Given the description of an element on the screen output the (x, y) to click on. 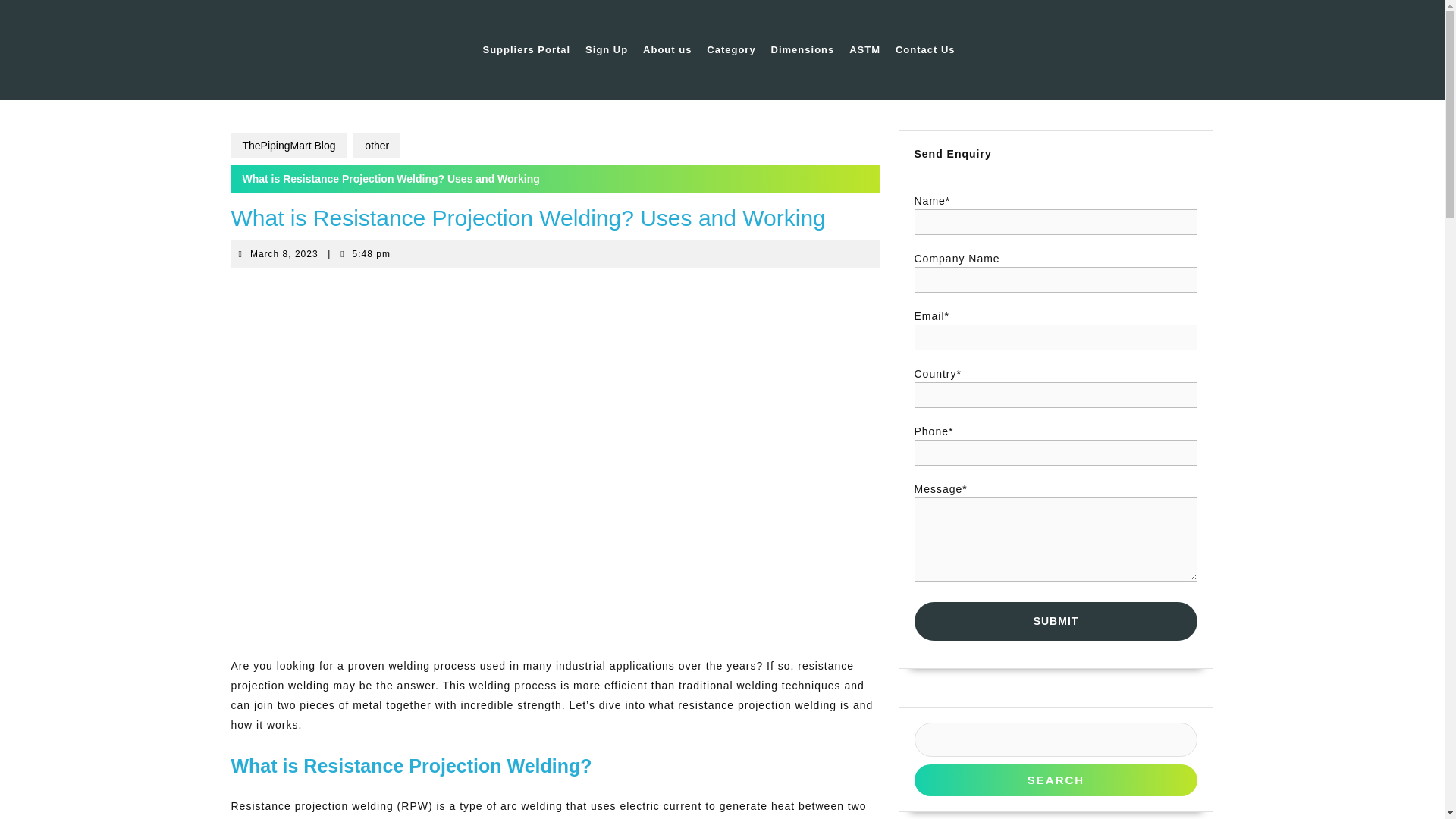
other (376, 145)
About us (667, 49)
SEARCH (1056, 780)
Sign Up (606, 49)
Category (730, 49)
Submit (1056, 620)
Suppliers Portal (526, 49)
Submit (1056, 620)
Contact Us (284, 253)
ASTM (924, 49)
ThePipingMart Blog (864, 49)
Dimensions (288, 145)
